Given the description of an element on the screen output the (x, y) to click on. 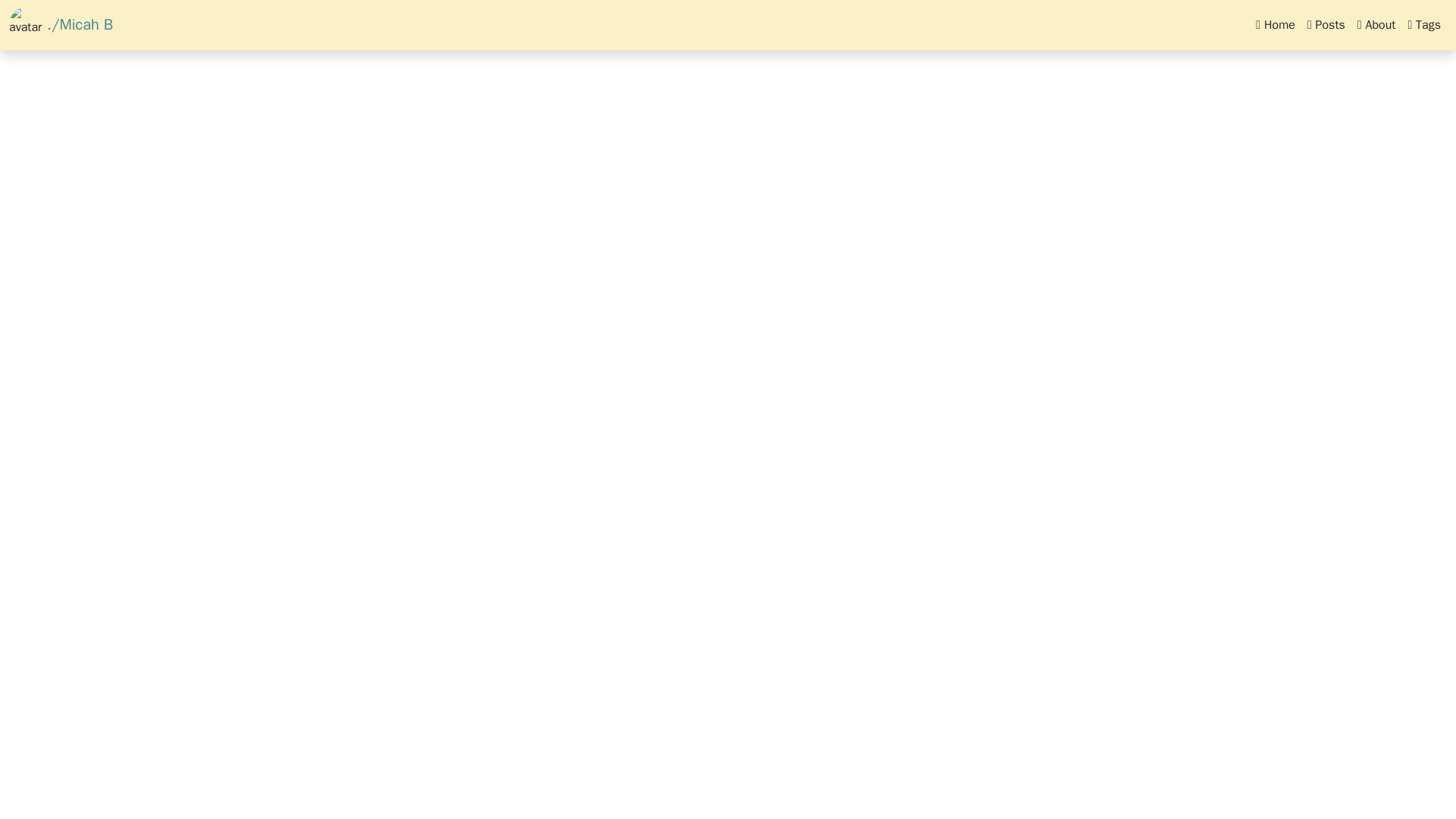
Posts (1326, 24)
Home (1275, 24)
Tags (1423, 24)
About (1376, 24)
